Given the description of an element on the screen output the (x, y) to click on. 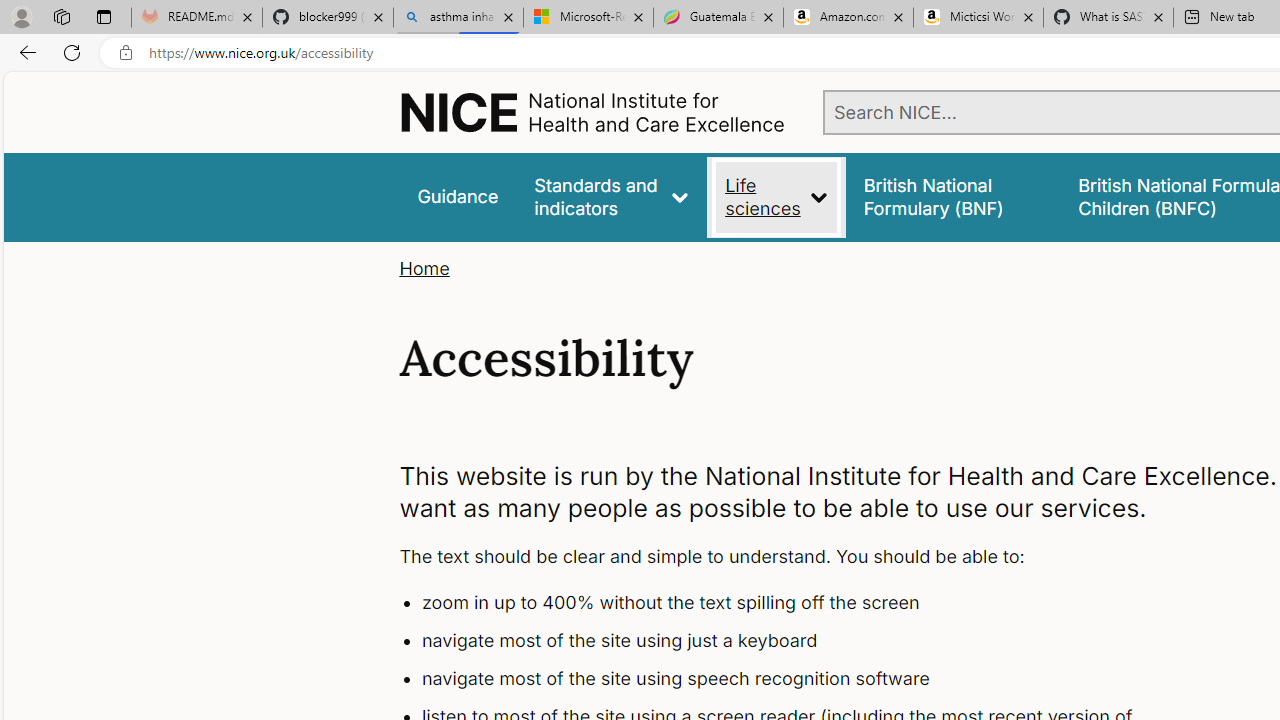
zoom in up to 400% without the text spilling off the screen (796, 603)
false (952, 196)
